Given the description of an element on the screen output the (x, y) to click on. 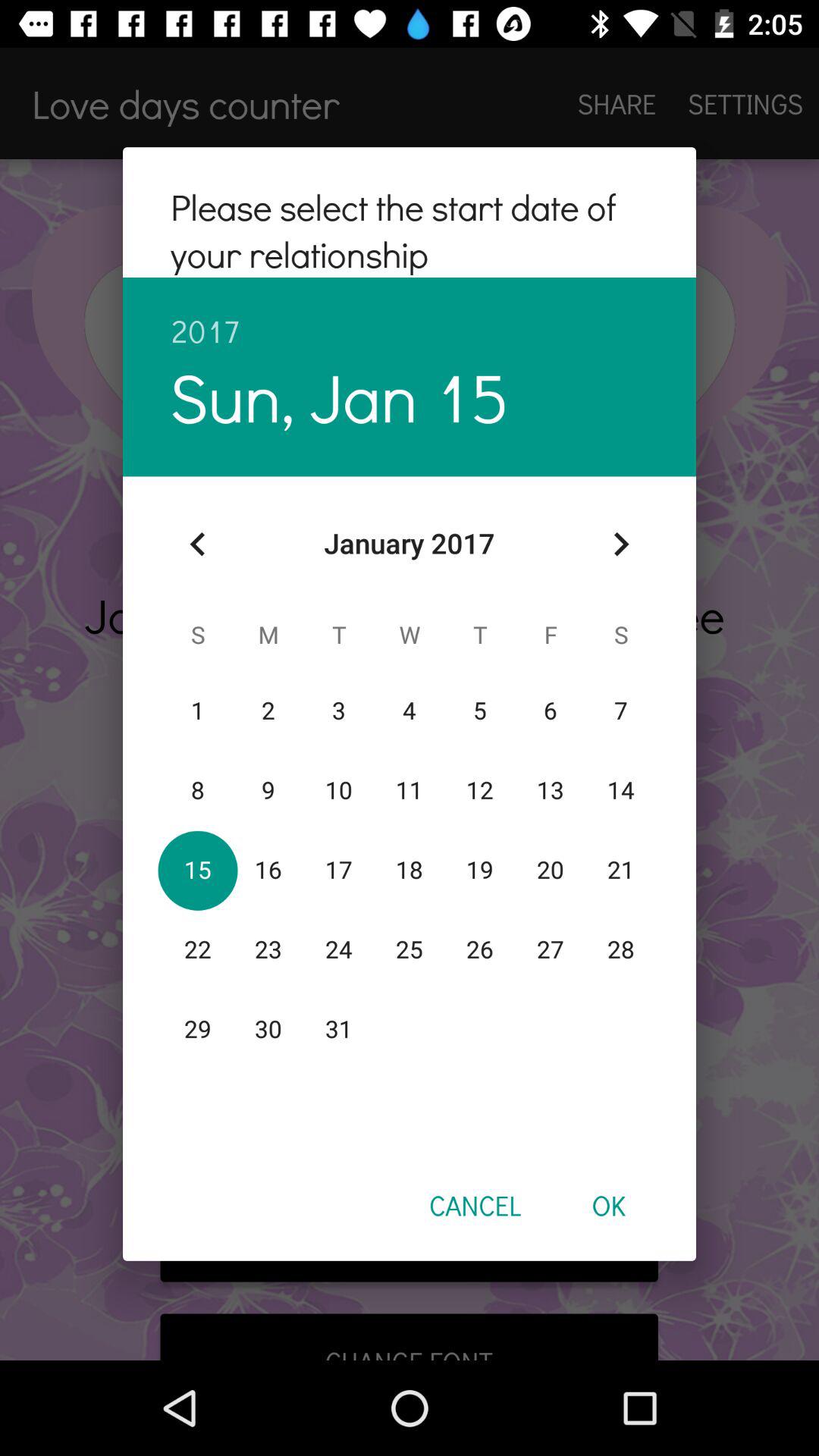
flip to 2017 (409, 314)
